Given the description of an element on the screen output the (x, y) to click on. 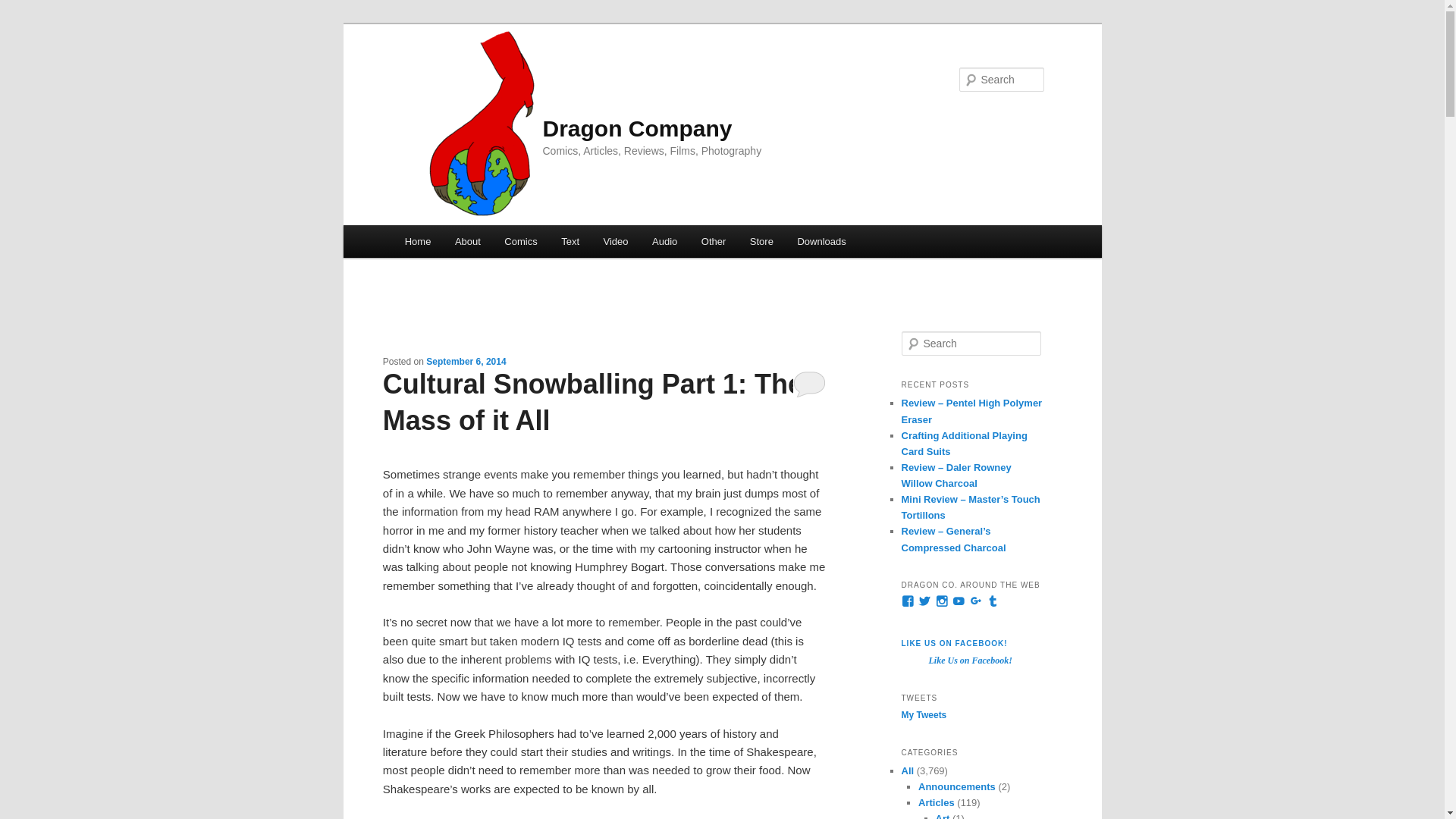
Audio (664, 241)
Comics (521, 241)
Video (615, 241)
Dragon Company (637, 128)
About (467, 241)
3:13 AM (465, 361)
Text (569, 241)
Permalink to Cultural Snowballing Part 1: The Mass of it All (592, 401)
Search (24, 8)
Home (417, 241)
Dragon Company (637, 128)
